Given the description of an element on the screen output the (x, y) to click on. 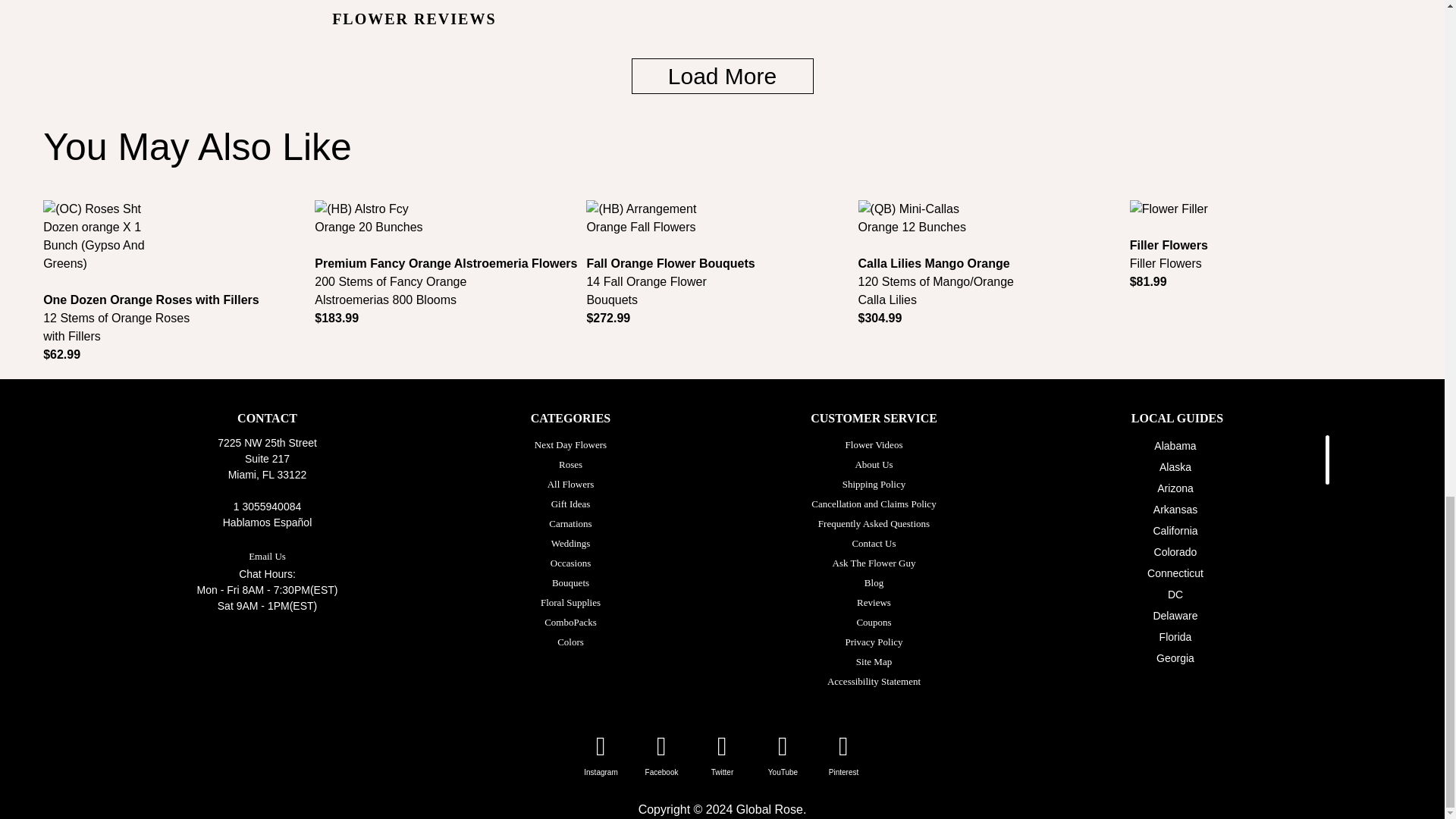
Alabama (1174, 445)
Alaska (1174, 467)
Flower Filler (1168, 208)
Flower Filler (1264, 219)
